Given the description of an element on the screen output the (x, y) to click on. 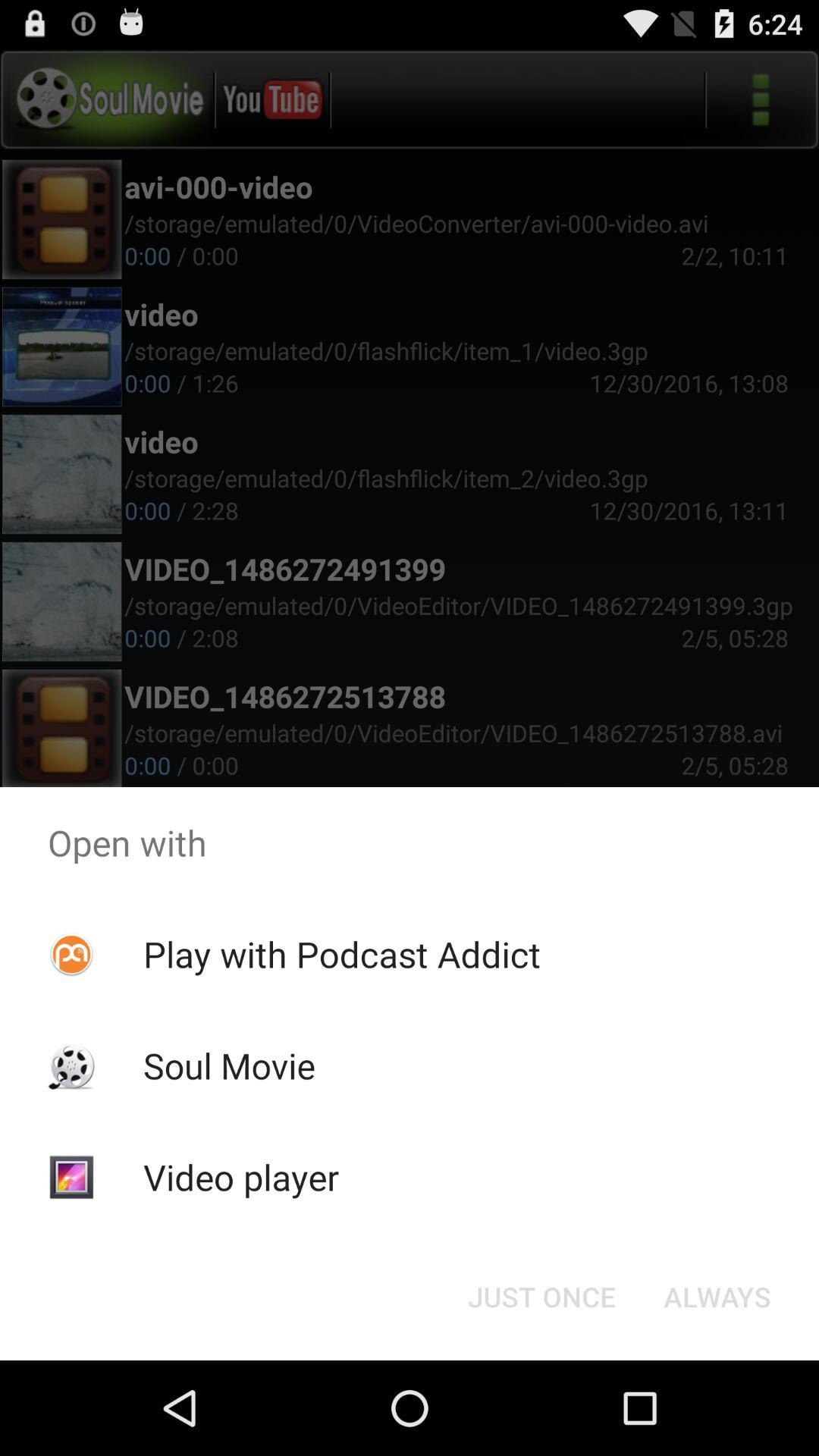
turn off the button next to just once item (717, 1296)
